Given the description of an element on the screen output the (x, y) to click on. 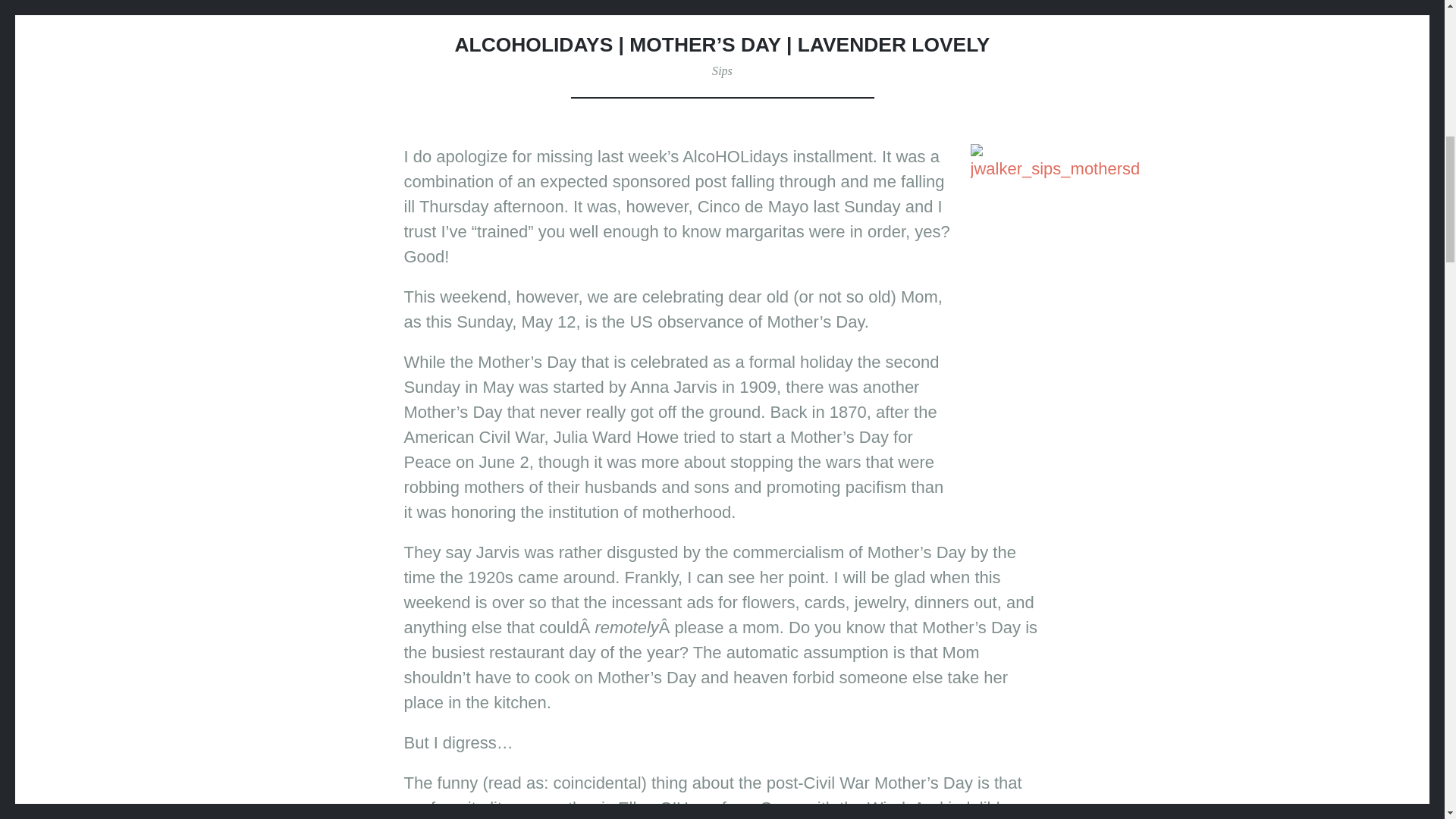
Sips (721, 70)
